Given the description of an element on the screen output the (x, y) to click on. 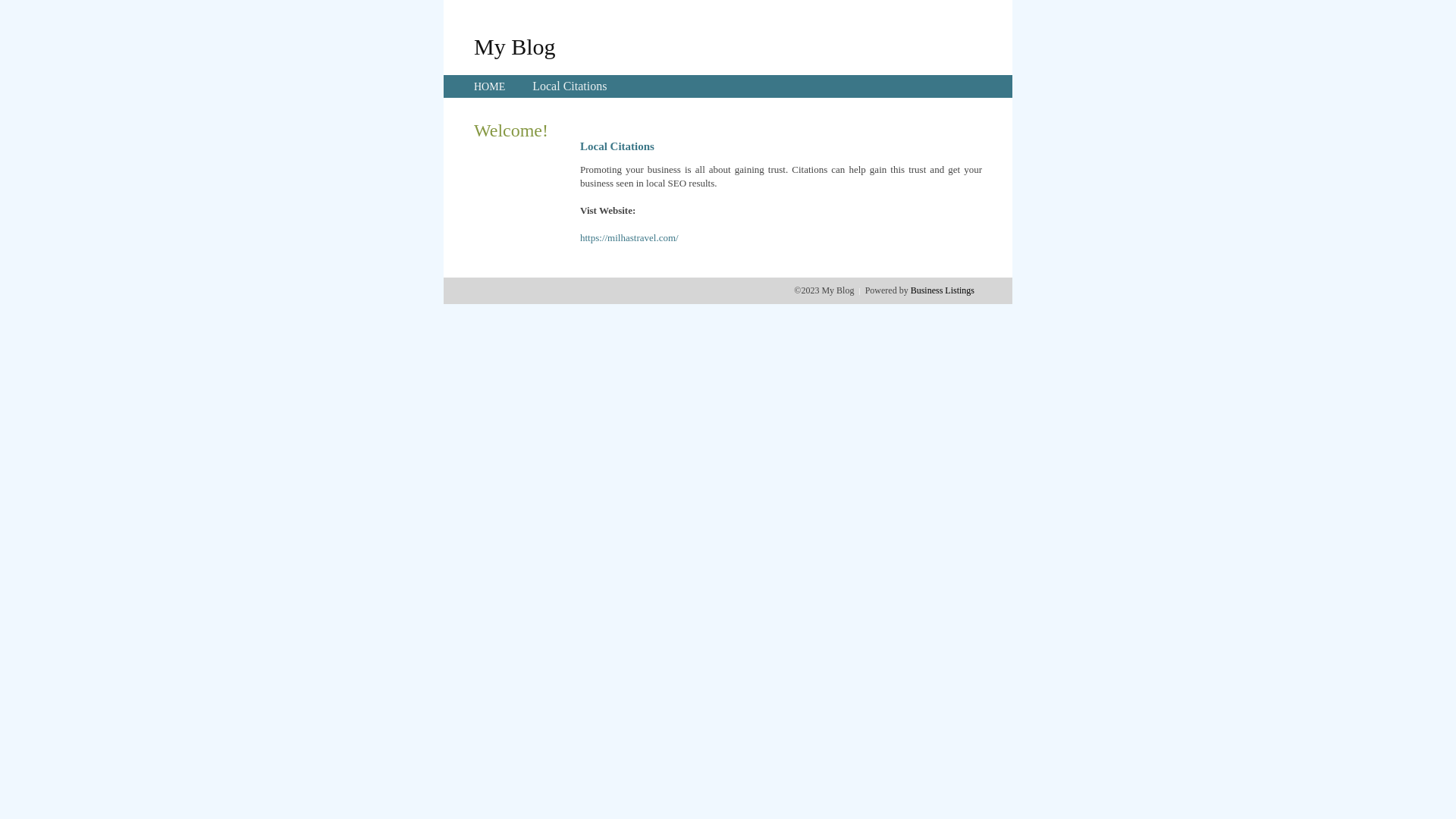
HOME Element type: text (489, 86)
Business Listings Element type: text (942, 290)
https://milhastravel.com/ Element type: text (629, 237)
My Blog Element type: text (514, 46)
Local Citations Element type: text (569, 85)
